Given the description of an element on the screen output the (x, y) to click on. 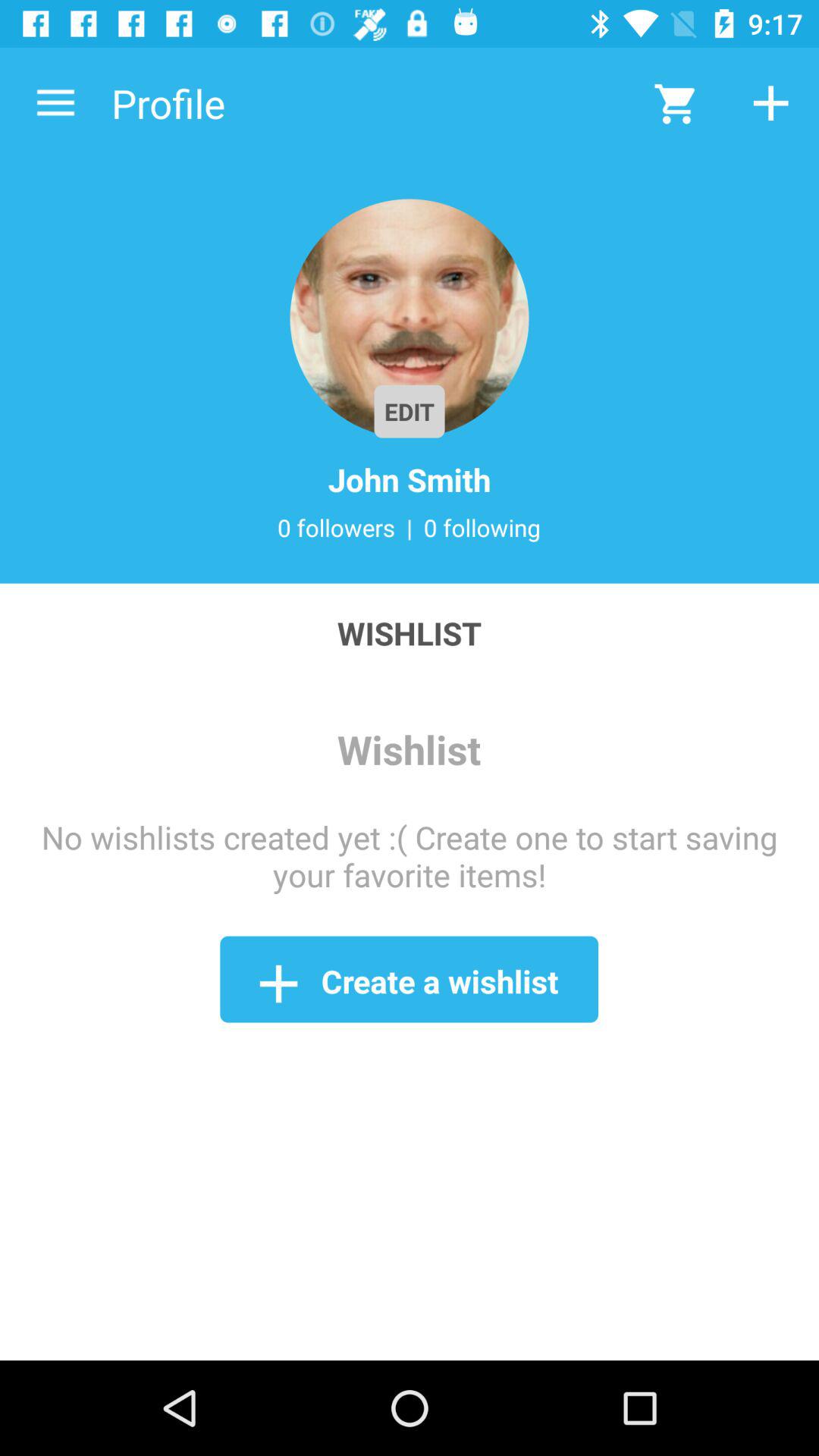
scroll until no wishlists created icon (409, 855)
